Given the description of an element on the screen output the (x, y) to click on. 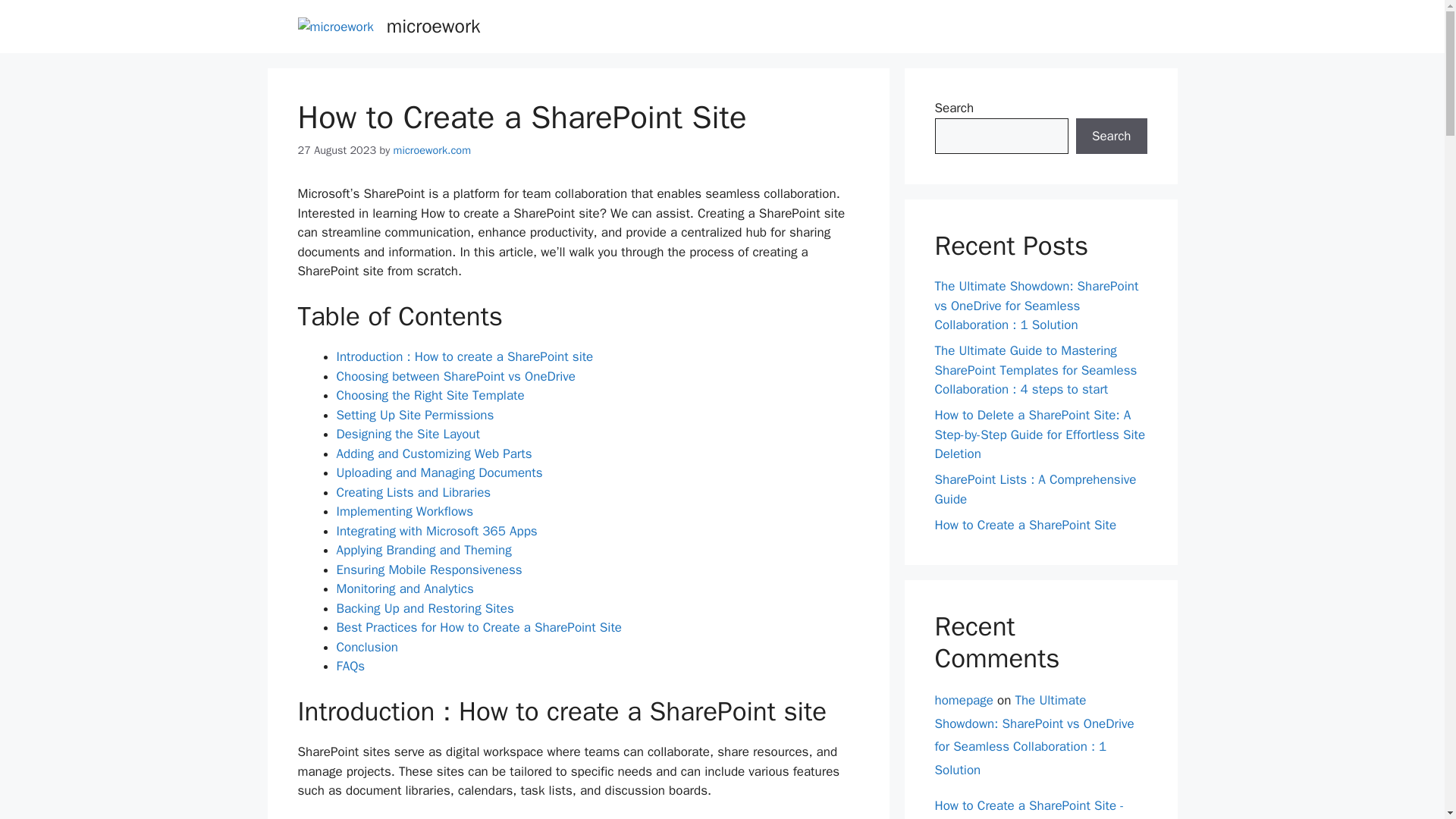
Monitoring and Analytics (405, 588)
Designing the Site Layout (408, 433)
Choosing between SharePoint vs OneDrive (455, 376)
SharePoint Lists : A Comprehensive Guide (1034, 488)
Backing Up and Restoring Sites (424, 608)
Choosing the Right Site Template (430, 395)
Uploading and Managing Documents (439, 472)
View all posts by microework.com (431, 150)
